Given the description of an element on the screen output the (x, y) to click on. 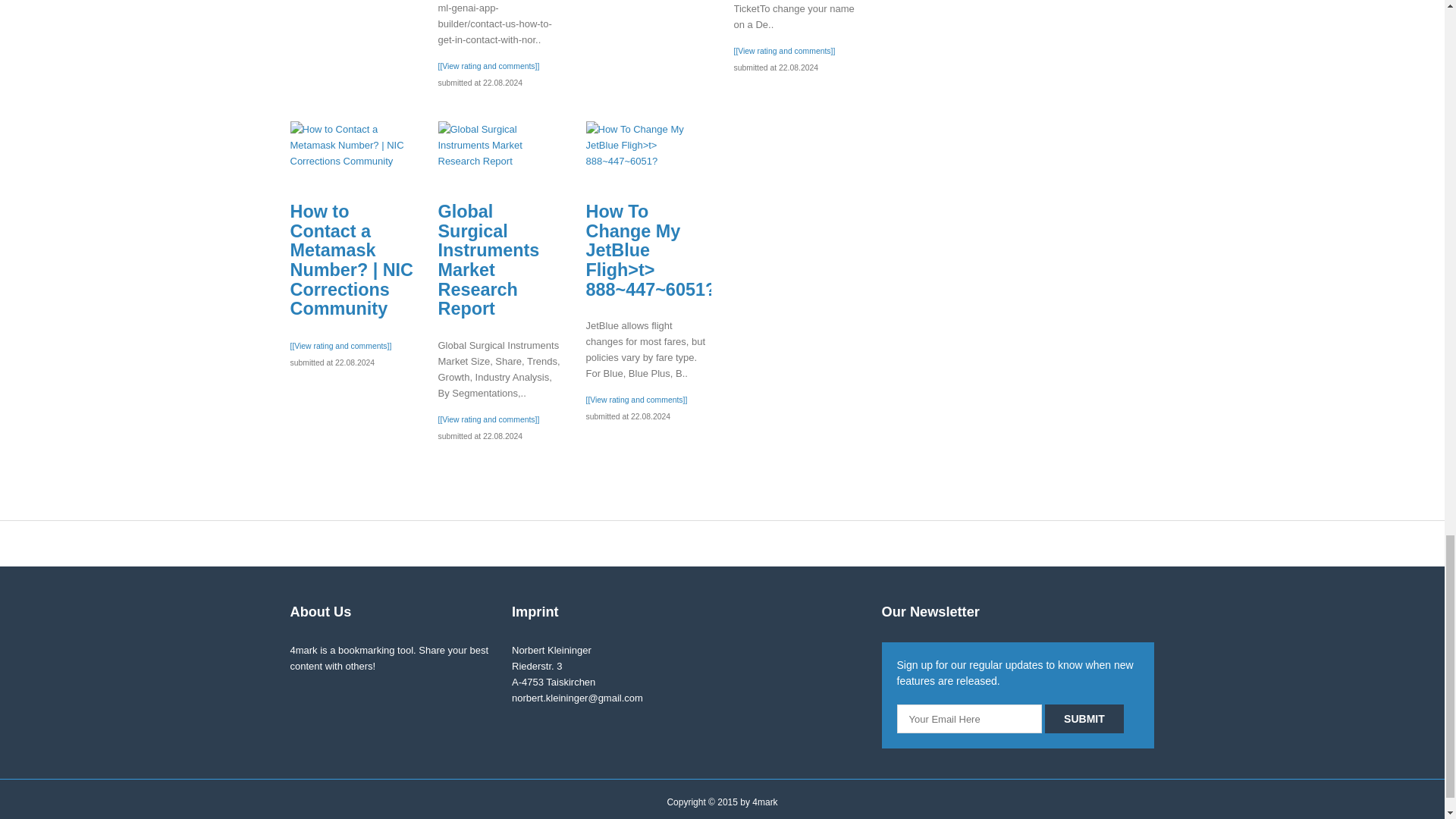
Global Surgical Instruments Market Research Report (500, 144)
Email (969, 718)
Submit (1084, 718)
